Given the description of an element on the screen output the (x, y) to click on. 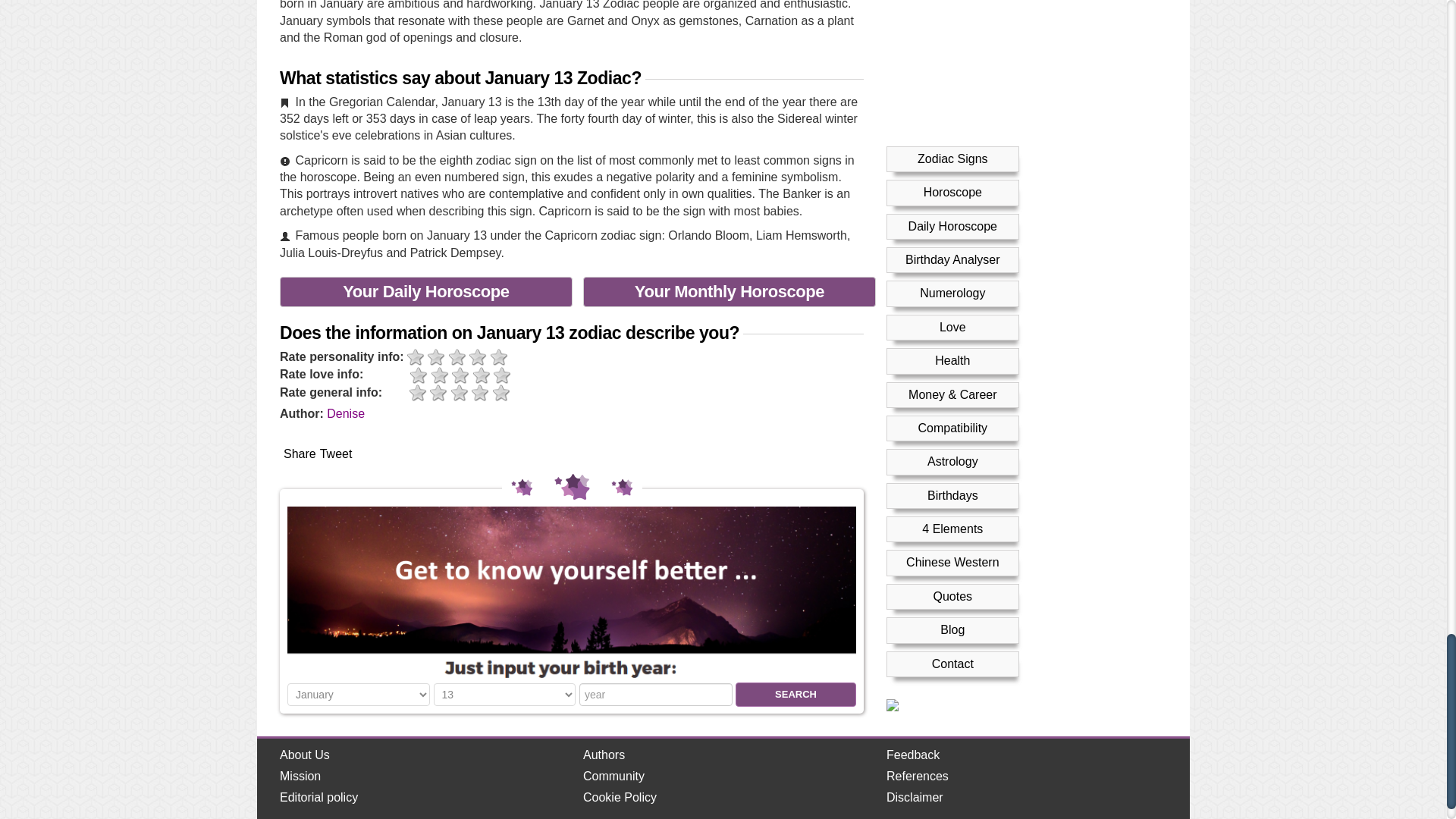
Somewhat (436, 357)
Search (795, 694)
Average (456, 357)
Somewhat (437, 393)
Very Good (502, 375)
Average (459, 393)
Very Good (502, 393)
Not at All (417, 393)
Somewhat (439, 375)
Not at All (419, 375)
